Given the description of an element on the screen output the (x, y) to click on. 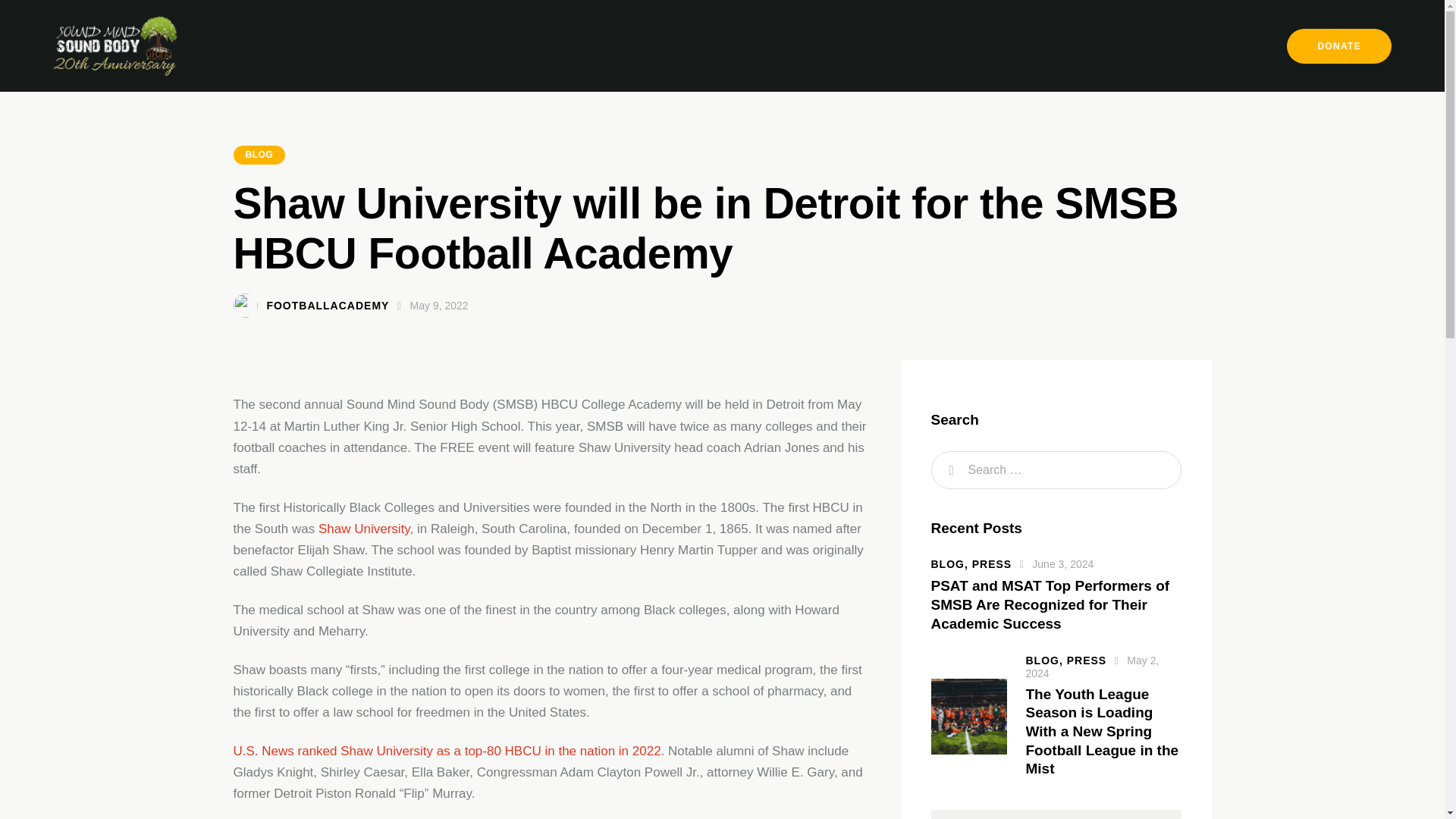
View all posts in Blog (951, 563)
View all posts in Blog (1045, 660)
View all posts in Press (1086, 660)
DONATE (1339, 45)
View all posts in Press (991, 563)
